Given the description of an element on the screen output the (x, y) to click on. 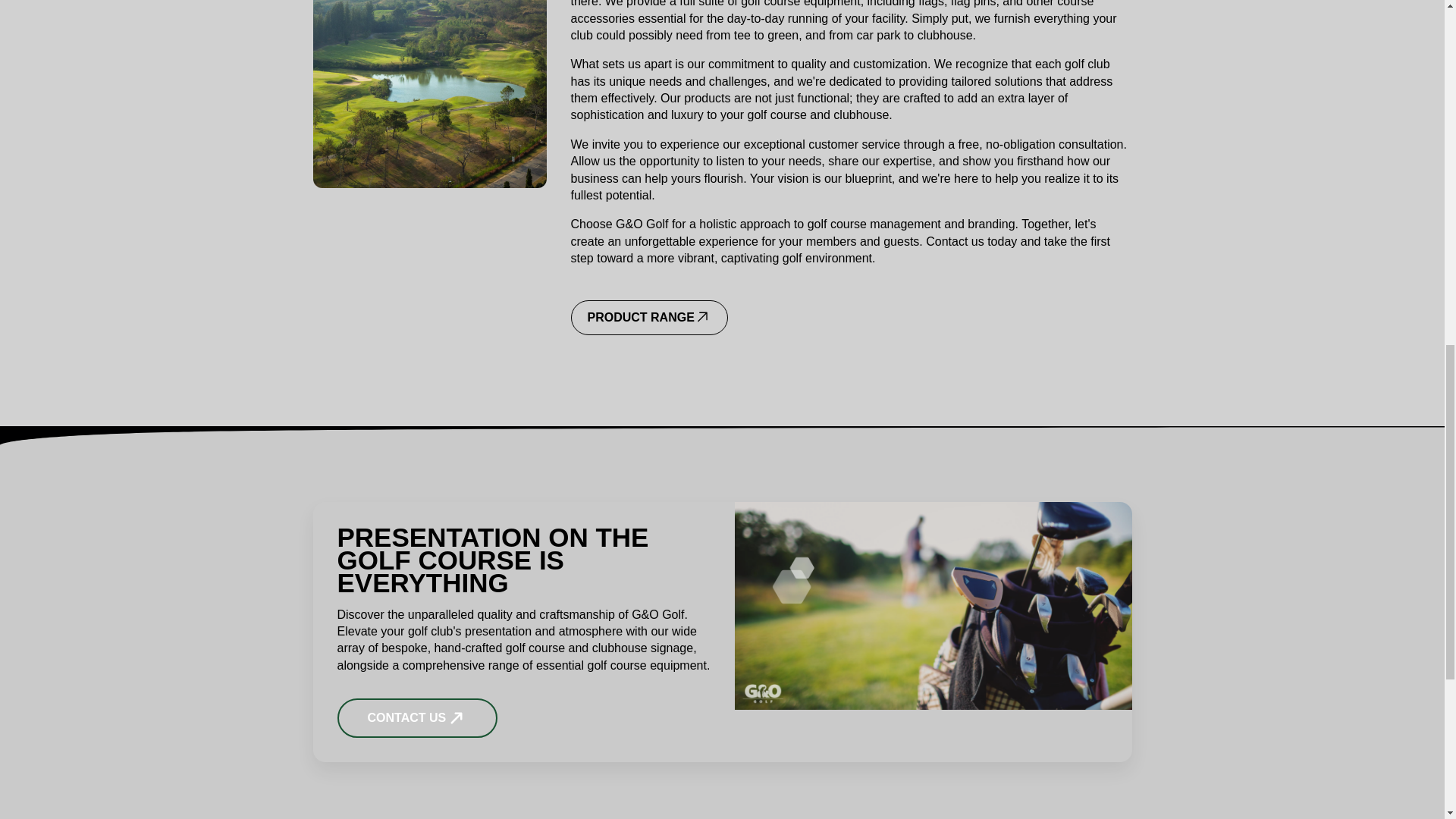
PRODUCT RANGE (649, 317)
CONTACT US (416, 717)
